Given the description of an element on the screen output the (x, y) to click on. 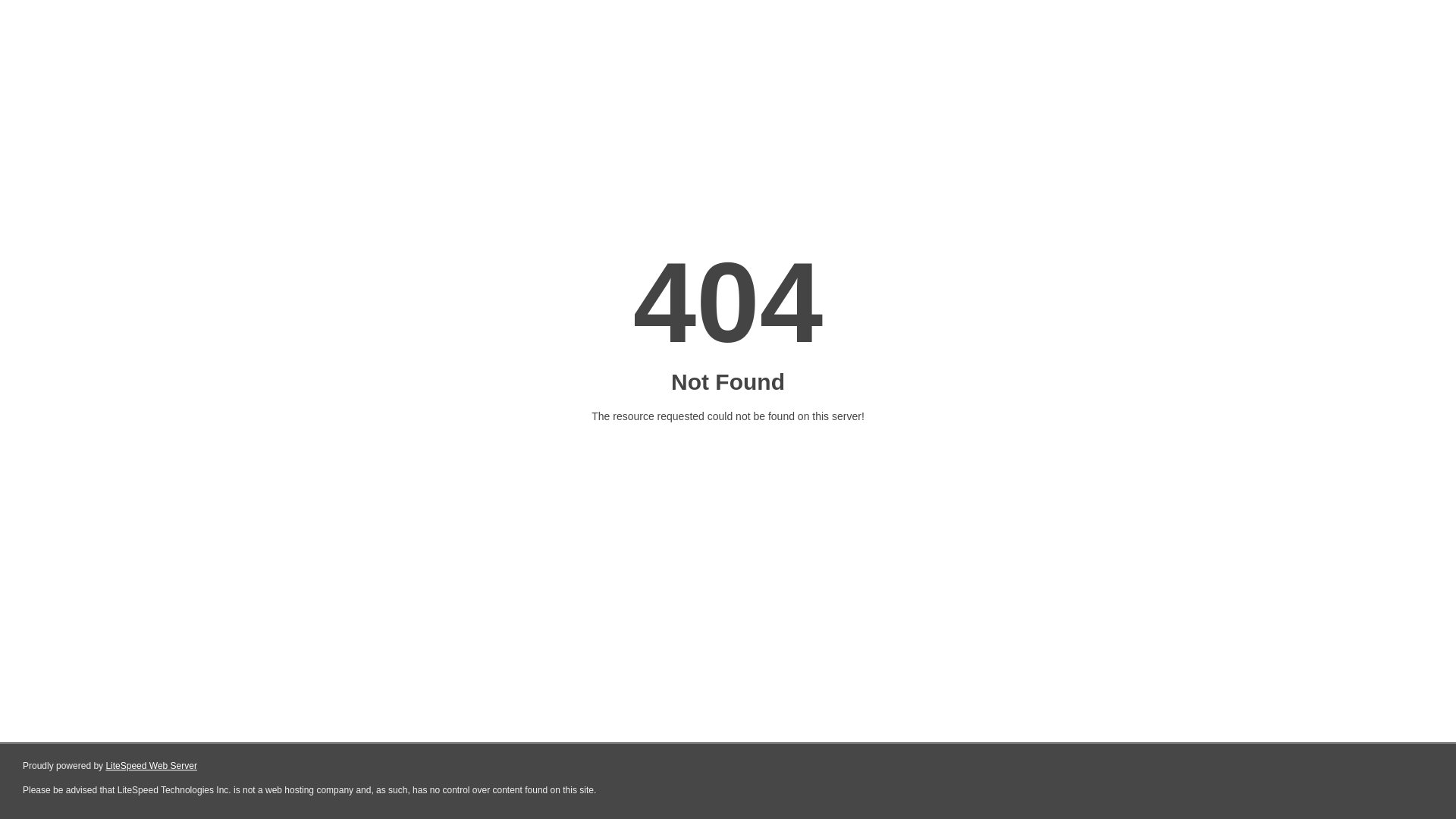
LiteSpeed Web Server Element type: text (151, 765)
